Given the description of an element on the screen output the (x, y) to click on. 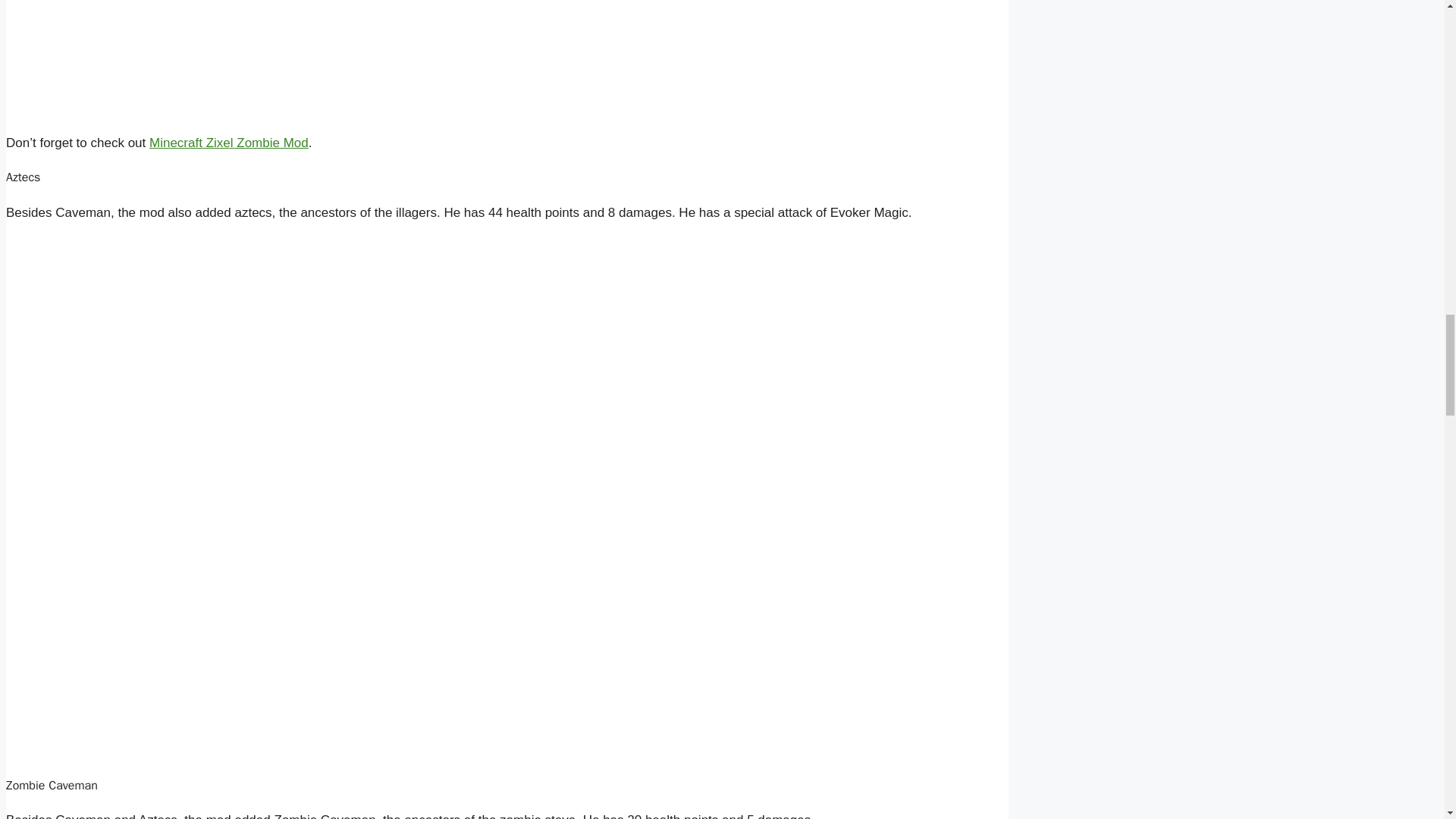
Minecraft Zixel Zombie Mod (228, 142)
